Given the description of an element on the screen output the (x, y) to click on. 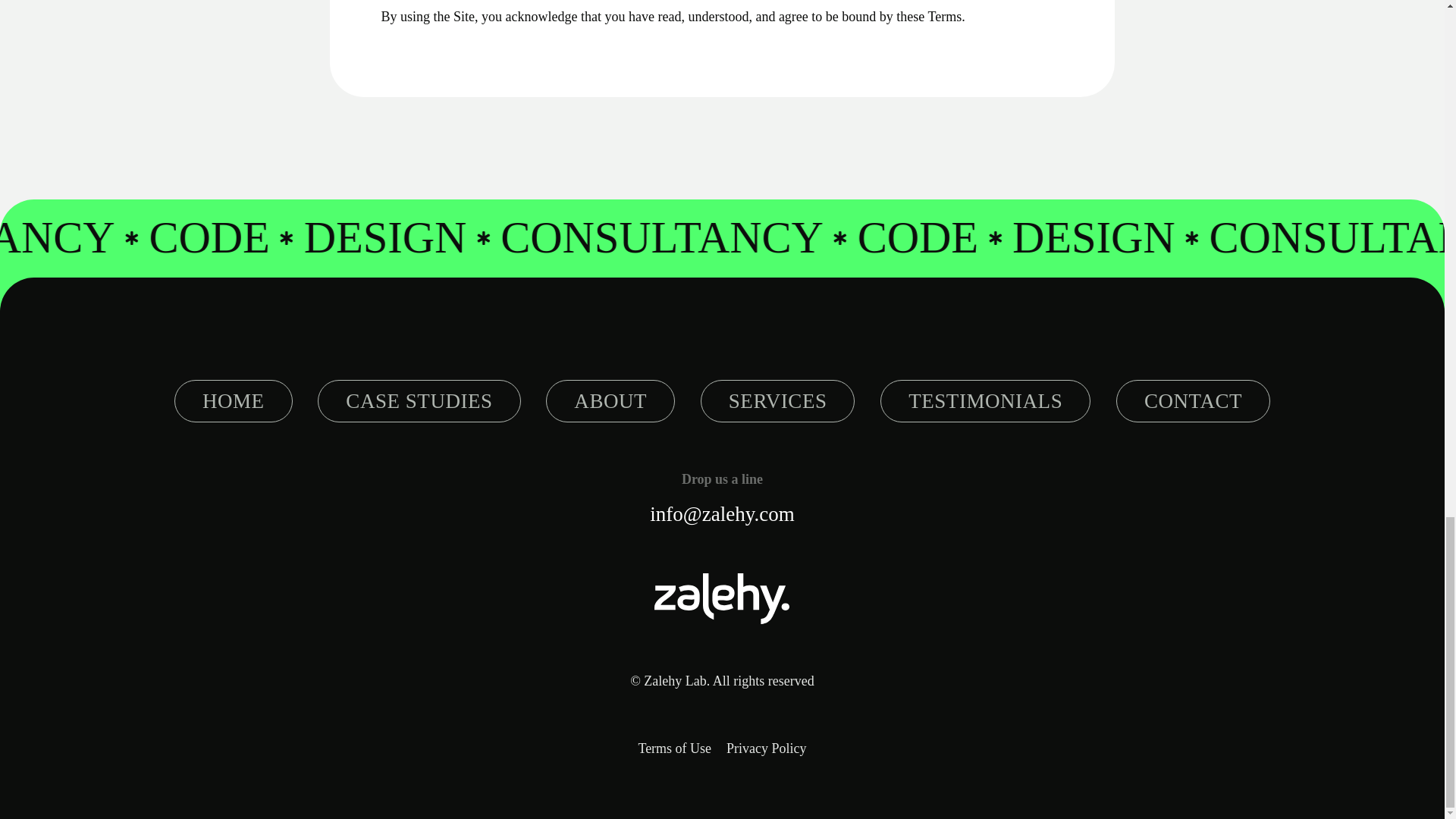
Terms of Use (674, 748)
HOME (233, 401)
CASE STUDIES (418, 401)
ABOUT (610, 401)
SERVICES (778, 401)
TESTIMONIALS (985, 401)
CONTACT (1192, 401)
Privacy Policy (766, 748)
